Given the description of an element on the screen output the (x, y) to click on. 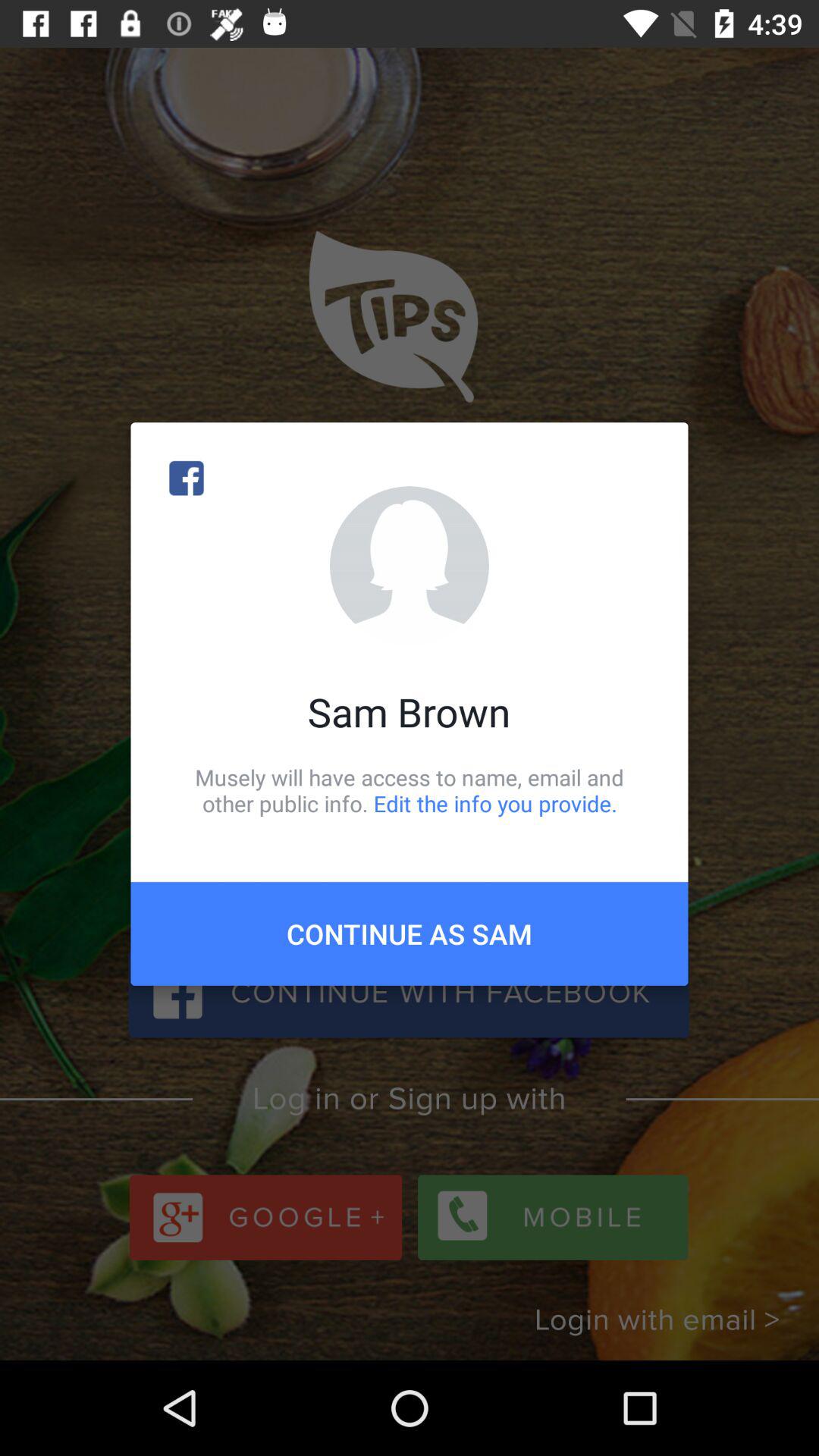
choose the icon below the sam brown icon (409, 790)
